Given the description of an element on the screen output the (x, y) to click on. 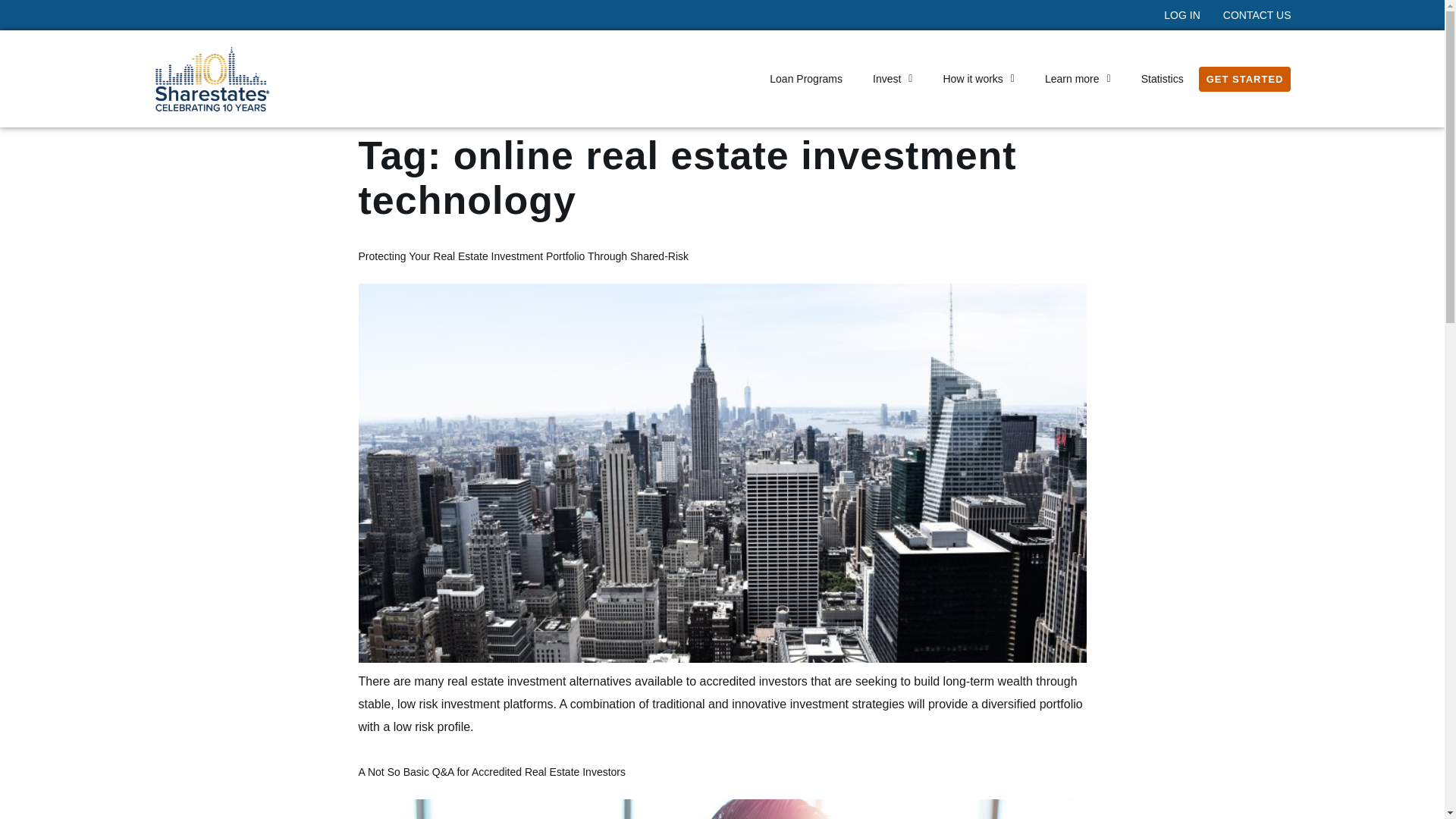
Invest (892, 78)
Loan Programs (805, 78)
CONTACT US (1257, 14)
How it works (978, 78)
Learn more (1077, 78)
Statistics (1161, 78)
LOG IN (1181, 14)
